Given the description of an element on the screen output the (x, y) to click on. 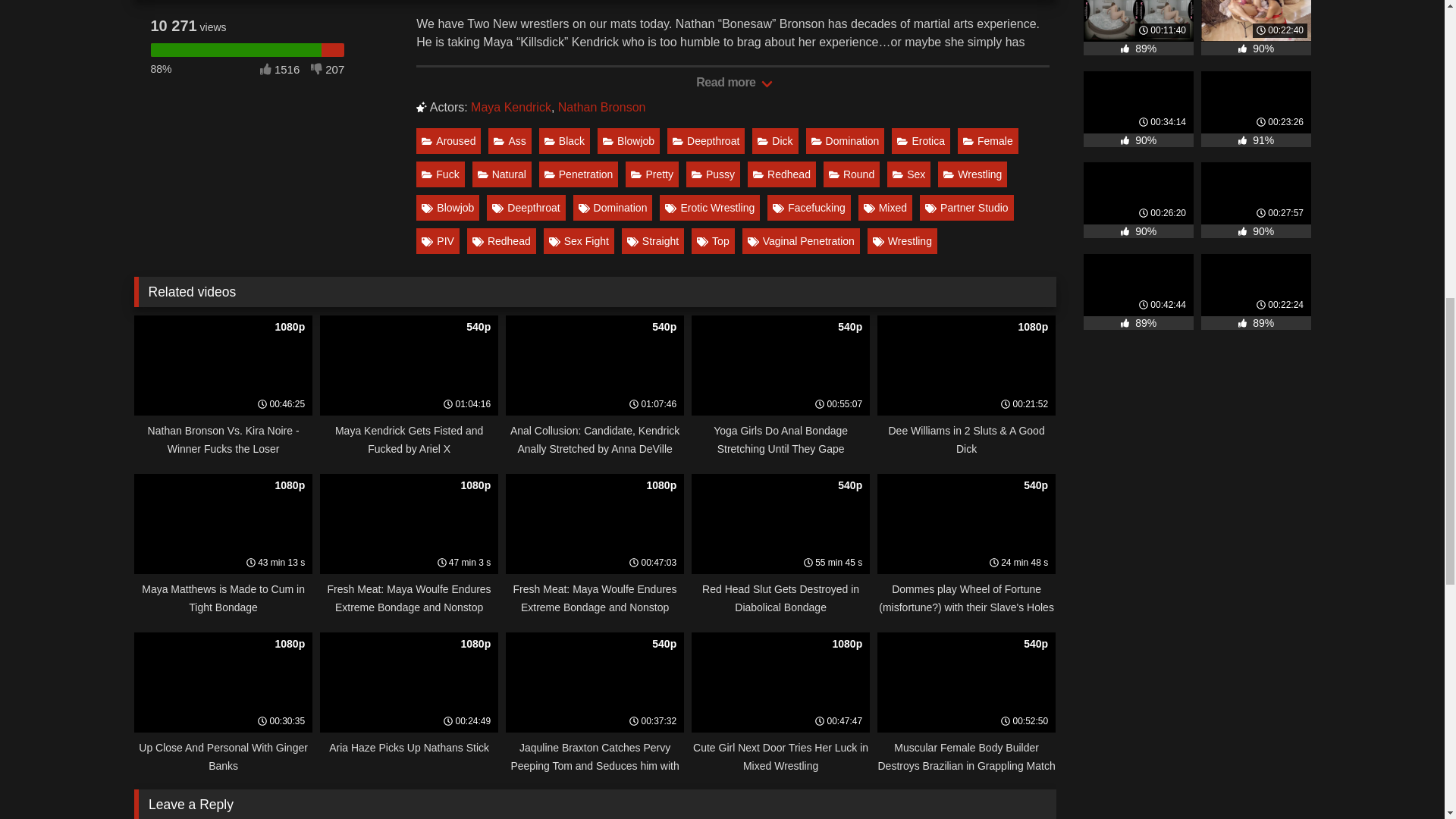
Domination (845, 140)
Partner Studio (966, 207)
Penetration (578, 174)
Sex (908, 174)
Redhead (781, 174)
Wrestling (972, 174)
Black (563, 140)
Dick (774, 140)
Fuck (440, 174)
Domination (612, 207)
Deepthroat (705, 140)
Erotic Wrestling (709, 207)
I dislike this (225, 1)
